Given the description of an element on the screen output the (x, y) to click on. 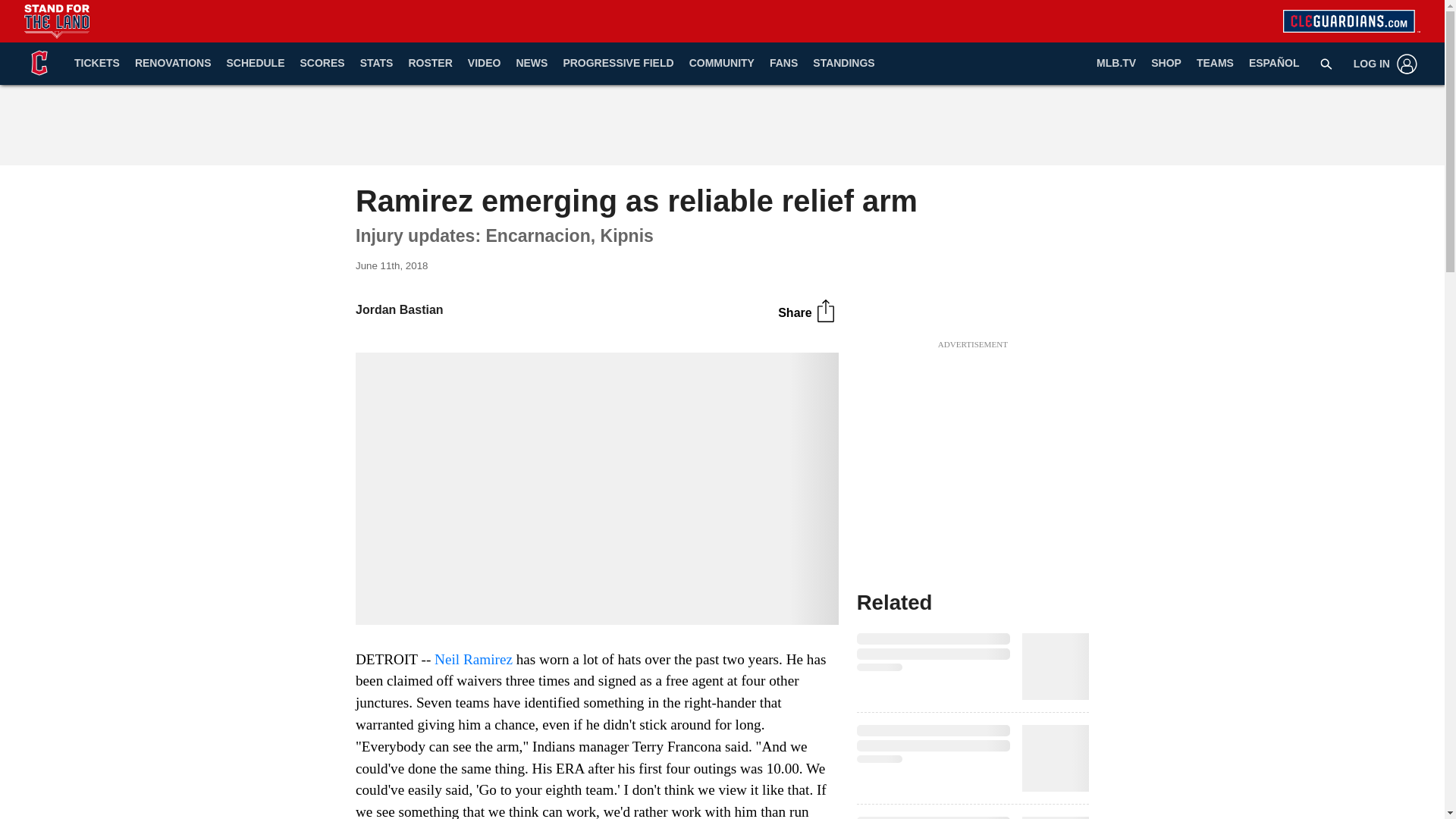
SCORES (322, 63)
STATS (376, 63)
SCHEDULE (255, 63)
search-1 (1326, 63)
share-square-2 (825, 310)
RENOVATIONS (173, 63)
TICKETS (97, 63)
